Given the description of an element on the screen output the (x, y) to click on. 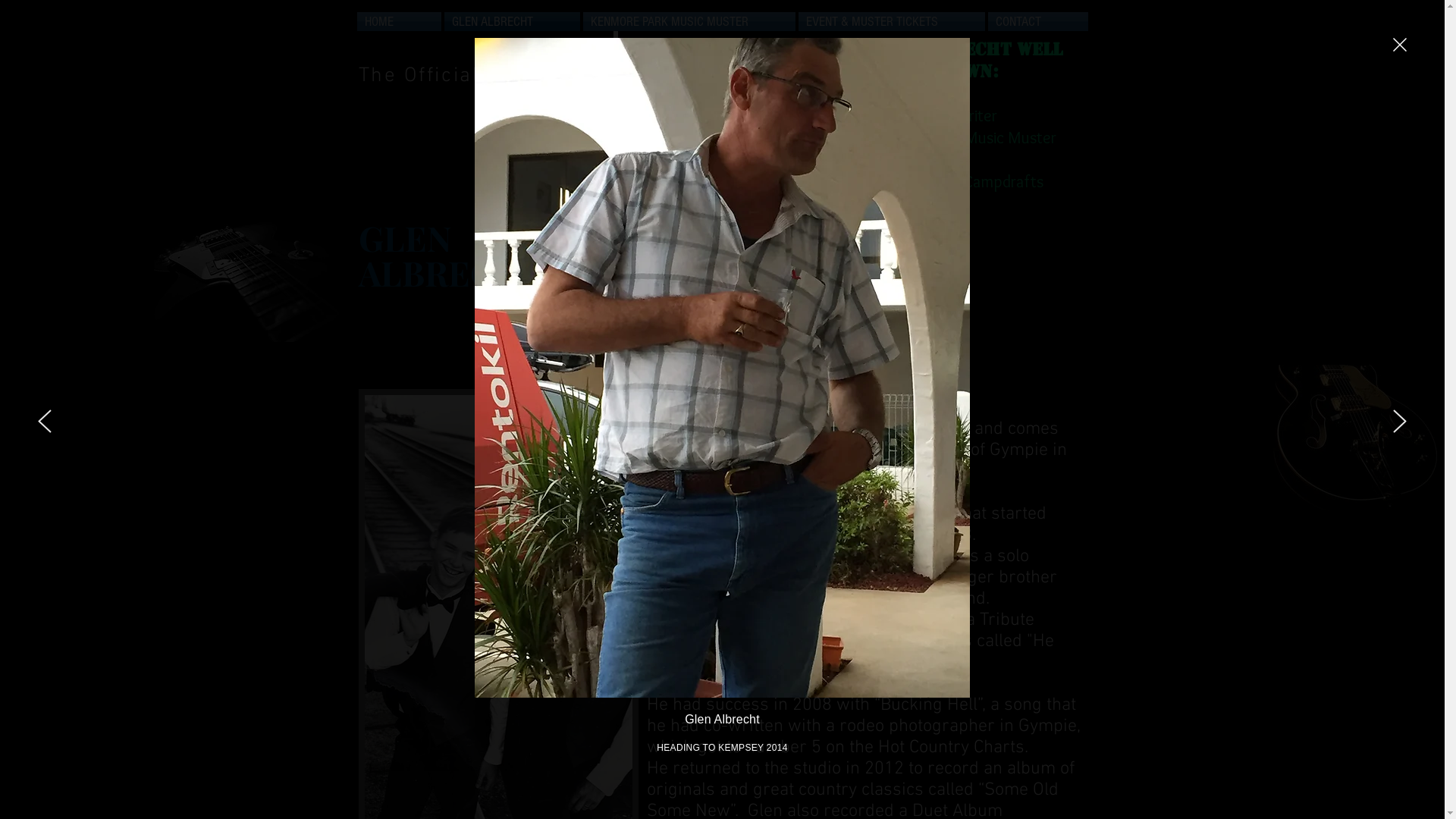
GLEN ALBRECHT Element type: text (511, 21)
EVENT & MUSTER TICKETS Element type: text (890, 21)
HOME Element type: text (399, 21)
KENMORE PARK MUSIC MUSTER Element type: text (688, 21)
CONTACT Element type: text (1036, 21)
The Official Website Element type: text (463, 75)
